Given the description of an element on the screen output the (x, y) to click on. 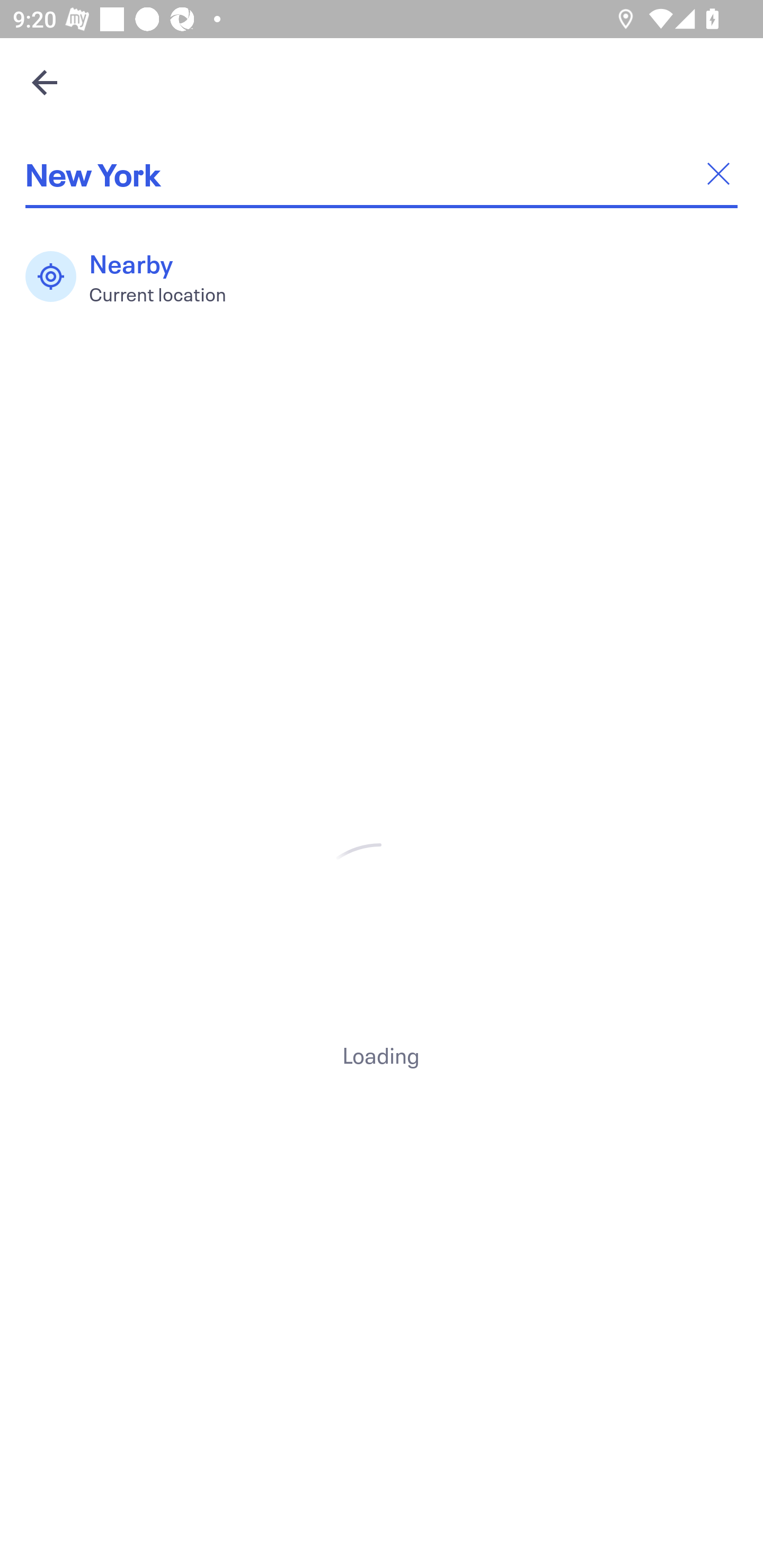
Navigate up (44, 82)
New York (381, 173)
Nearby Current location (135, 276)
